Given the description of an element on the screen output the (x, y) to click on. 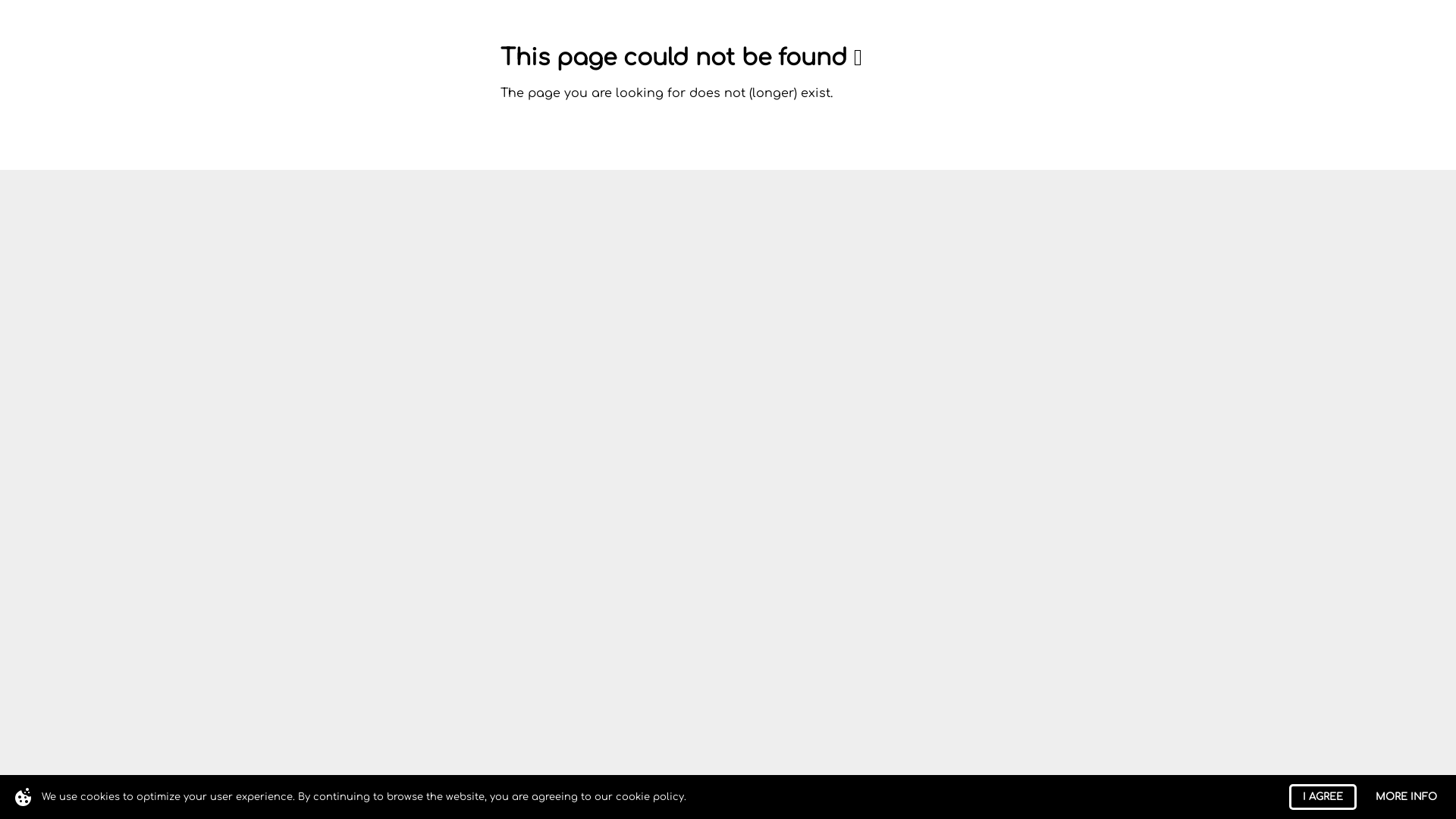
I AGREE Element type: text (1322, 796)
MORE INFO Element type: text (1406, 796)
